Given the description of an element on the screen output the (x, y) to click on. 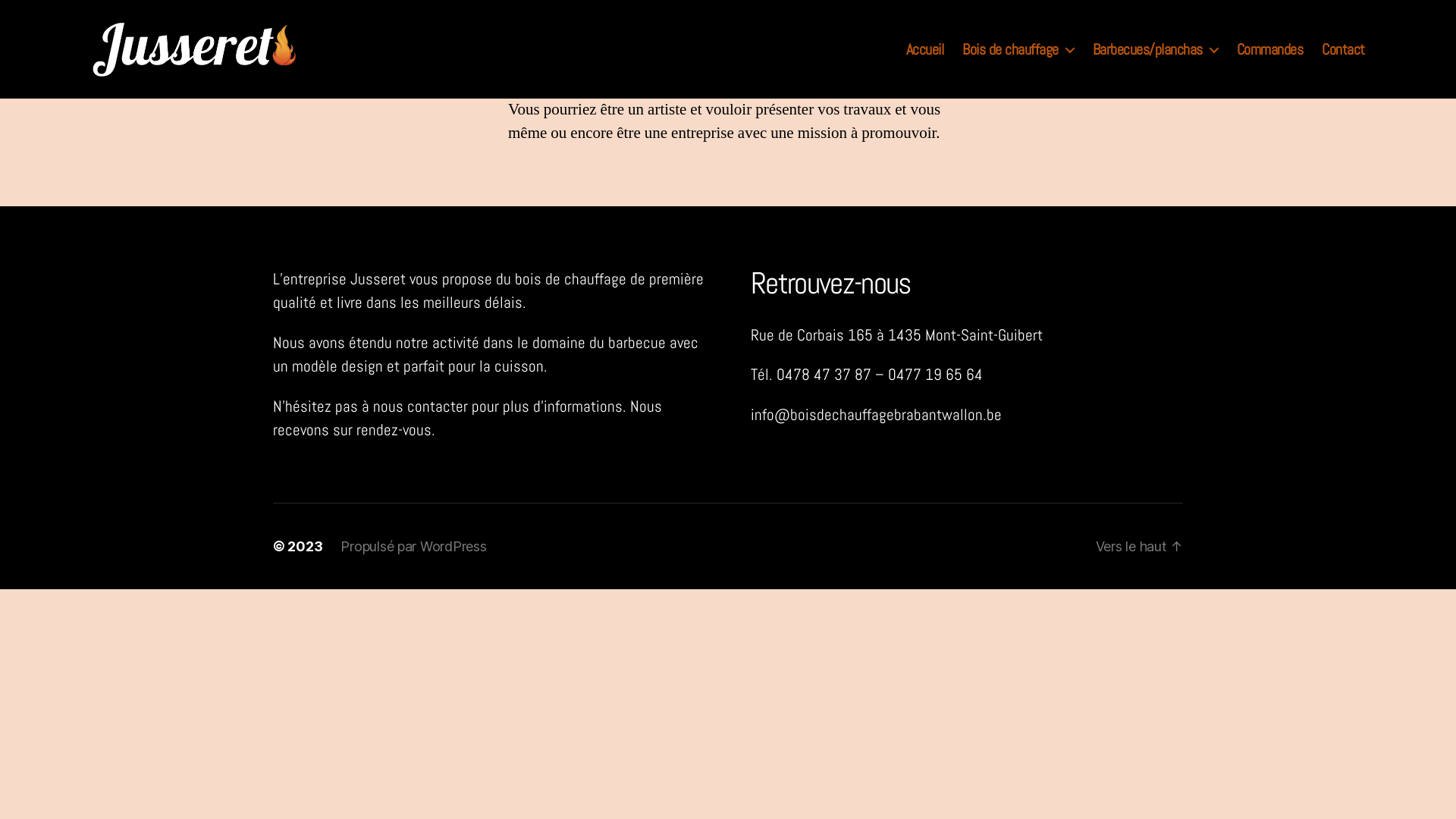
Barbecues/planchas Element type: text (1154, 49)
Contact Element type: text (1343, 49)
Bois de chauffage Element type: text (1017, 49)
Commandes Element type: text (1269, 49)
Accueil Element type: text (925, 49)
